Given the description of an element on the screen output the (x, y) to click on. 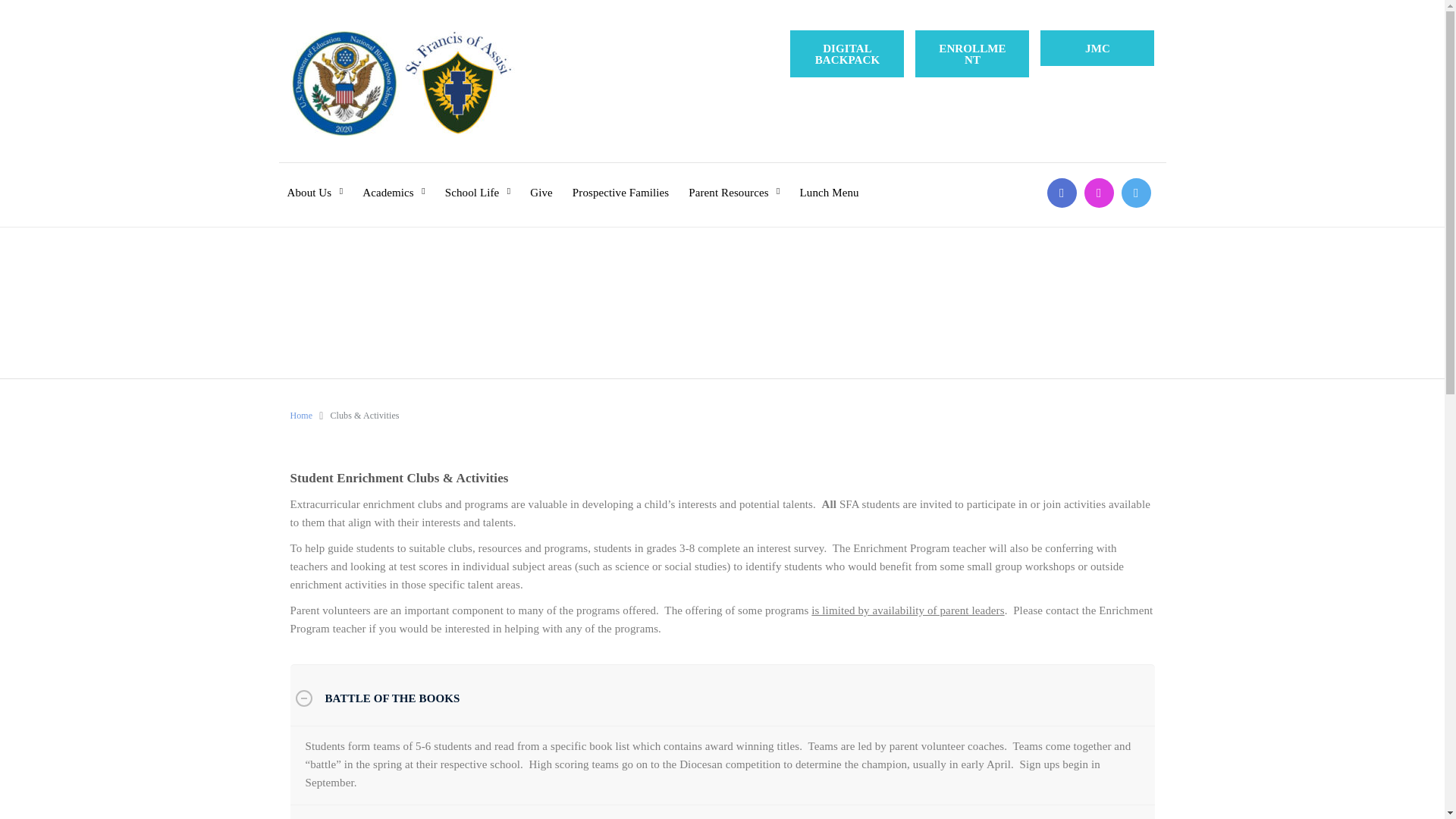
2022-2023 Enrollment (972, 53)
